Given the description of an element on the screen output the (x, y) to click on. 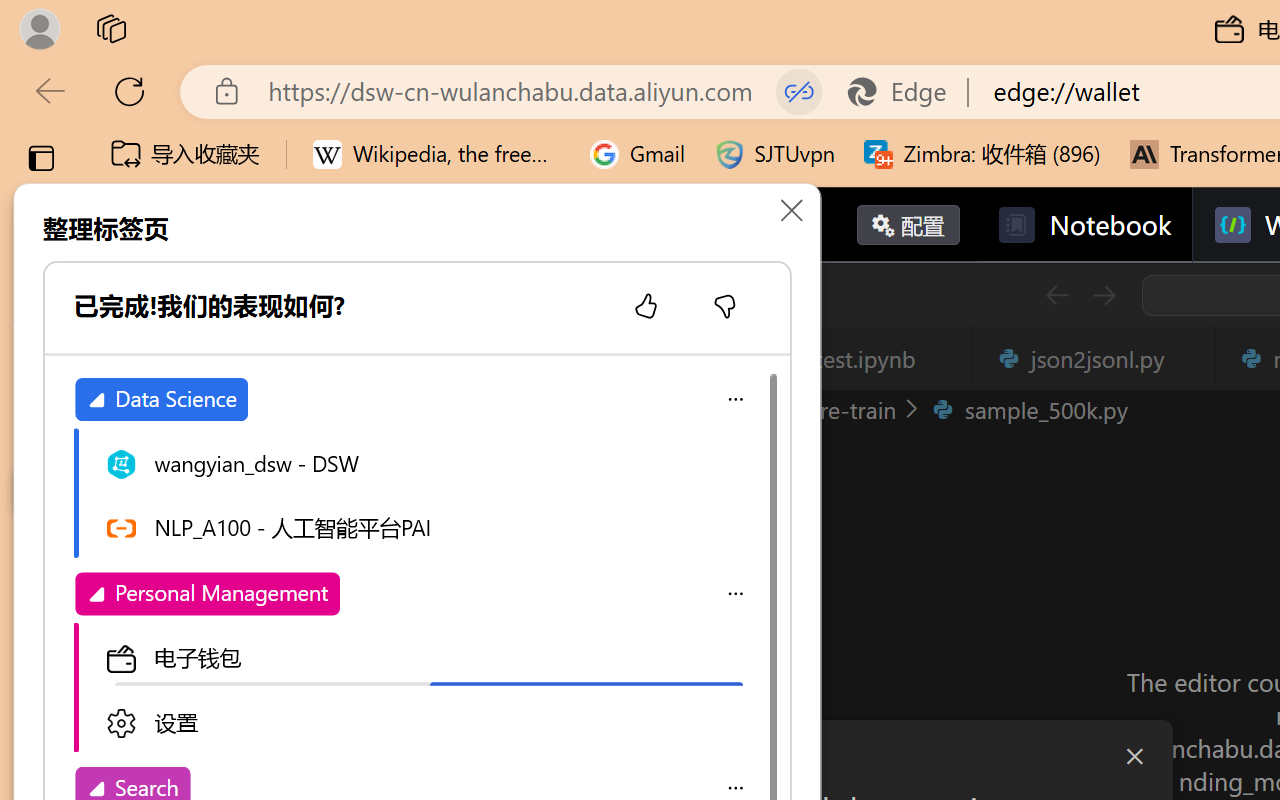
Go Back (Alt+LeftArrow) (1055, 295)
Go Forward (Alt+RightArrow) (1102, 295)
Notebook (1083, 225)
wangyian_dsw - DSW (426, 461)
Close (Ctrl+F4) (1188, 358)
